Given the description of an element on the screen output the (x, y) to click on. 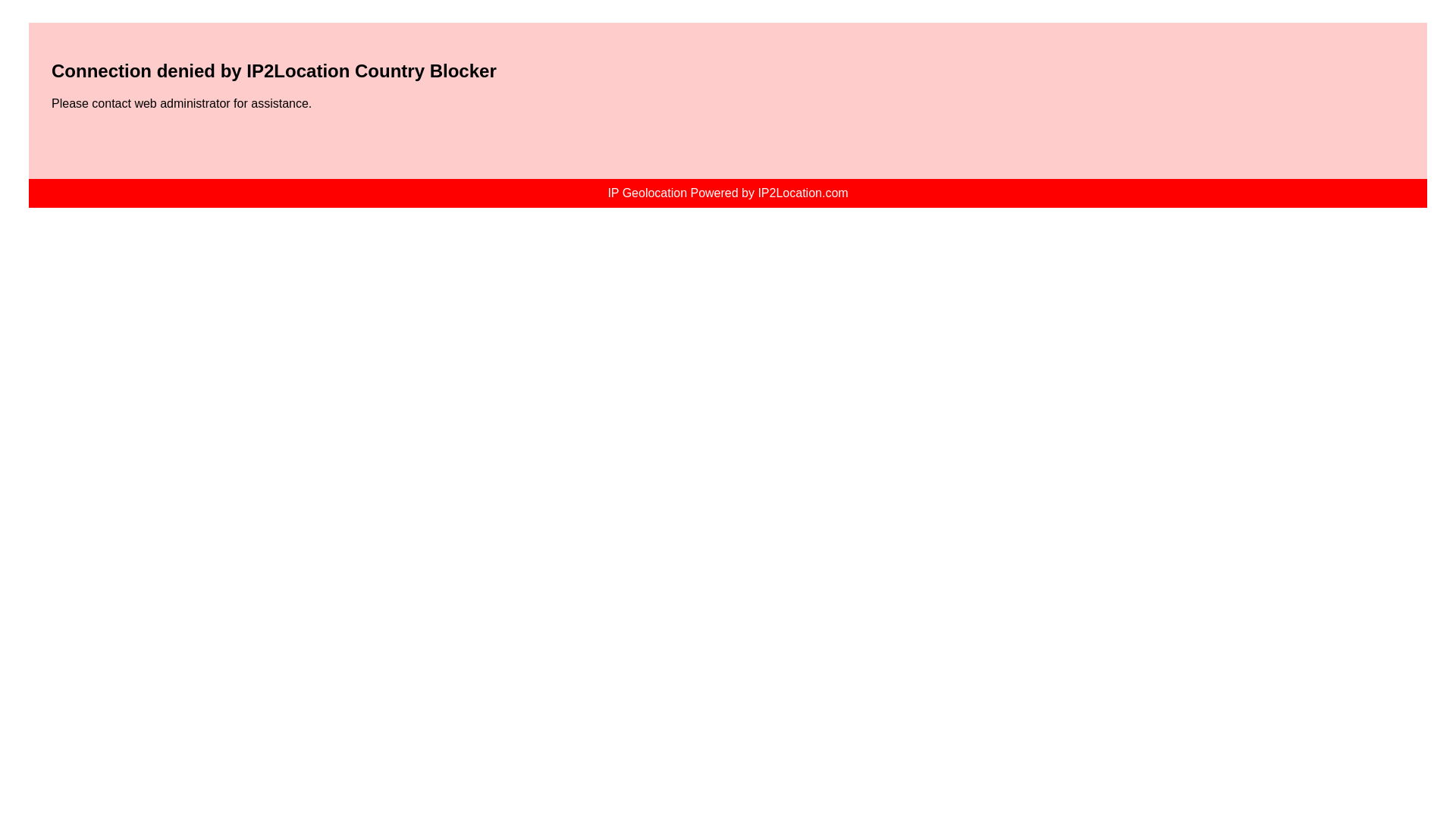
IP Geolocation Powered by IP2Location.com (727, 192)
